Given the description of an element on the screen output the (x, y) to click on. 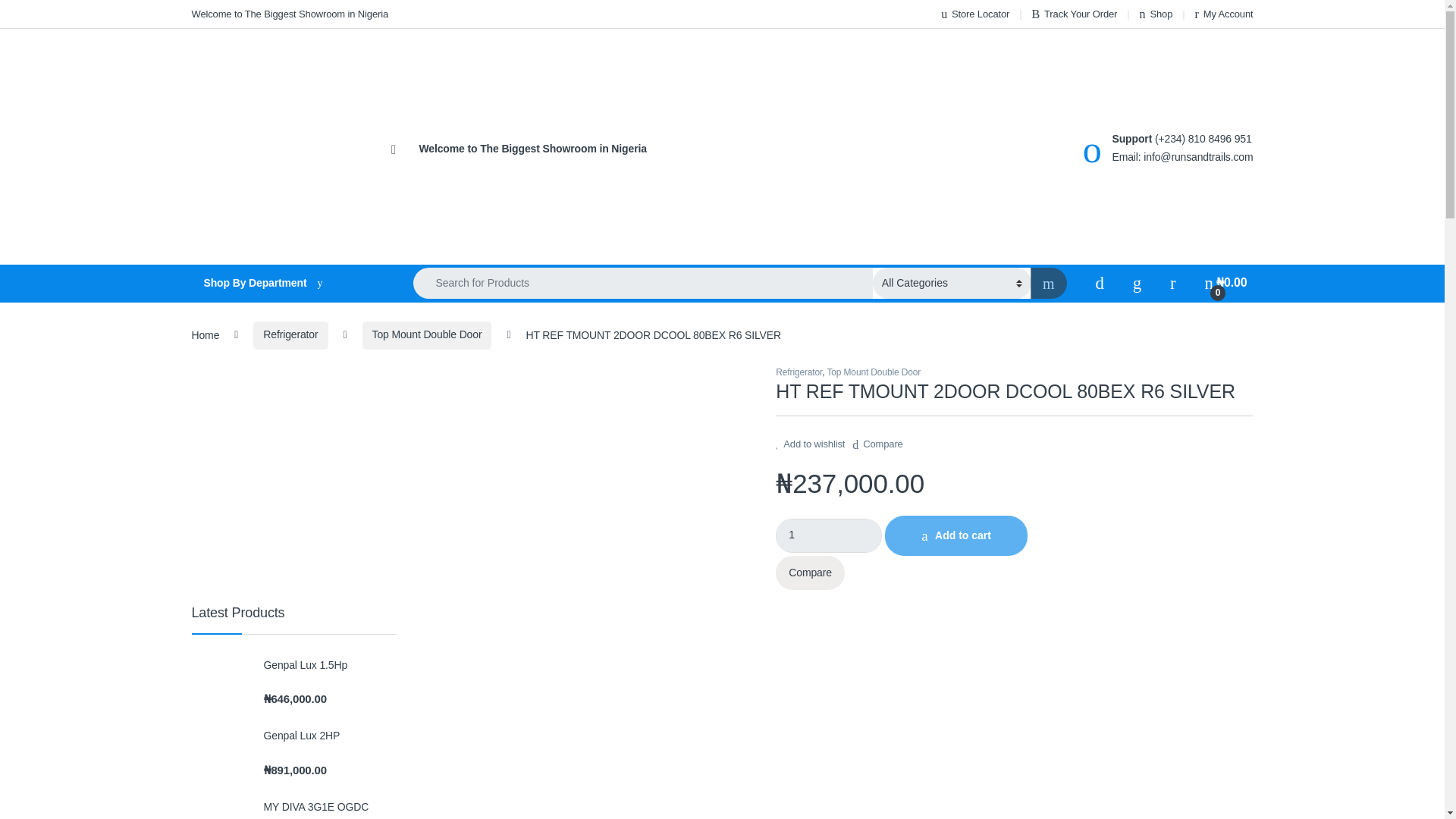
My Account (1224, 13)
1 (829, 535)
Store Locator (974, 13)
My Account (1224, 13)
Welcome to The Biggest Showroom in Nigeria (289, 13)
Store Locator (974, 13)
Shop (1156, 13)
Track Your Order (1073, 13)
Track Your Order (1073, 13)
Shop (1156, 13)
